Given the description of an element on the screen output the (x, y) to click on. 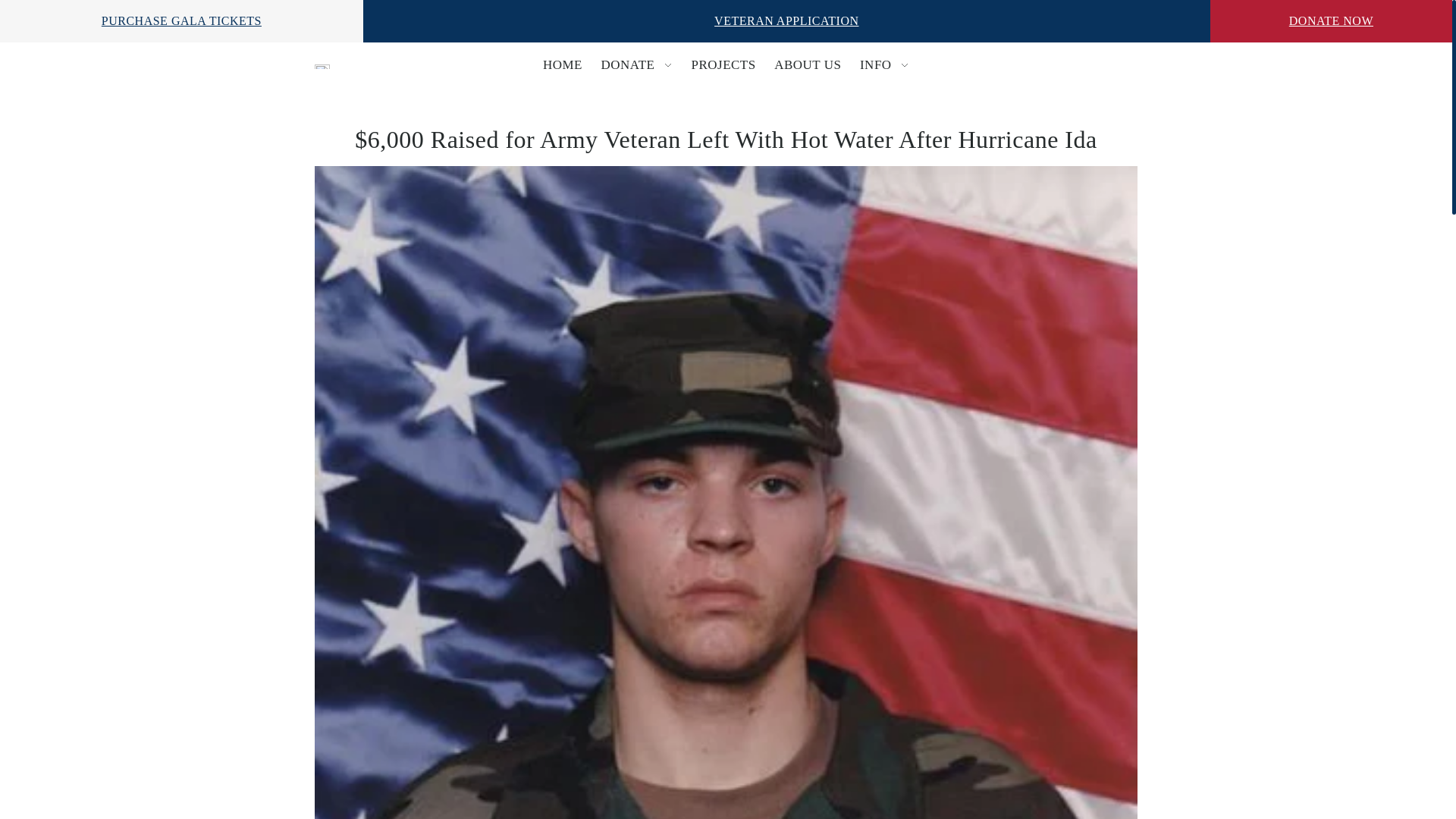
HOME (562, 65)
VETERAN APPLICATION (786, 20)
PROJECTS (722, 65)
PURCHASE GALA TICKETS (181, 20)
DONATE (636, 65)
ABOUT US (807, 65)
DONATE NOW (1330, 20)
INFO (884, 65)
